Given the description of an element on the screen output the (x, y) to click on. 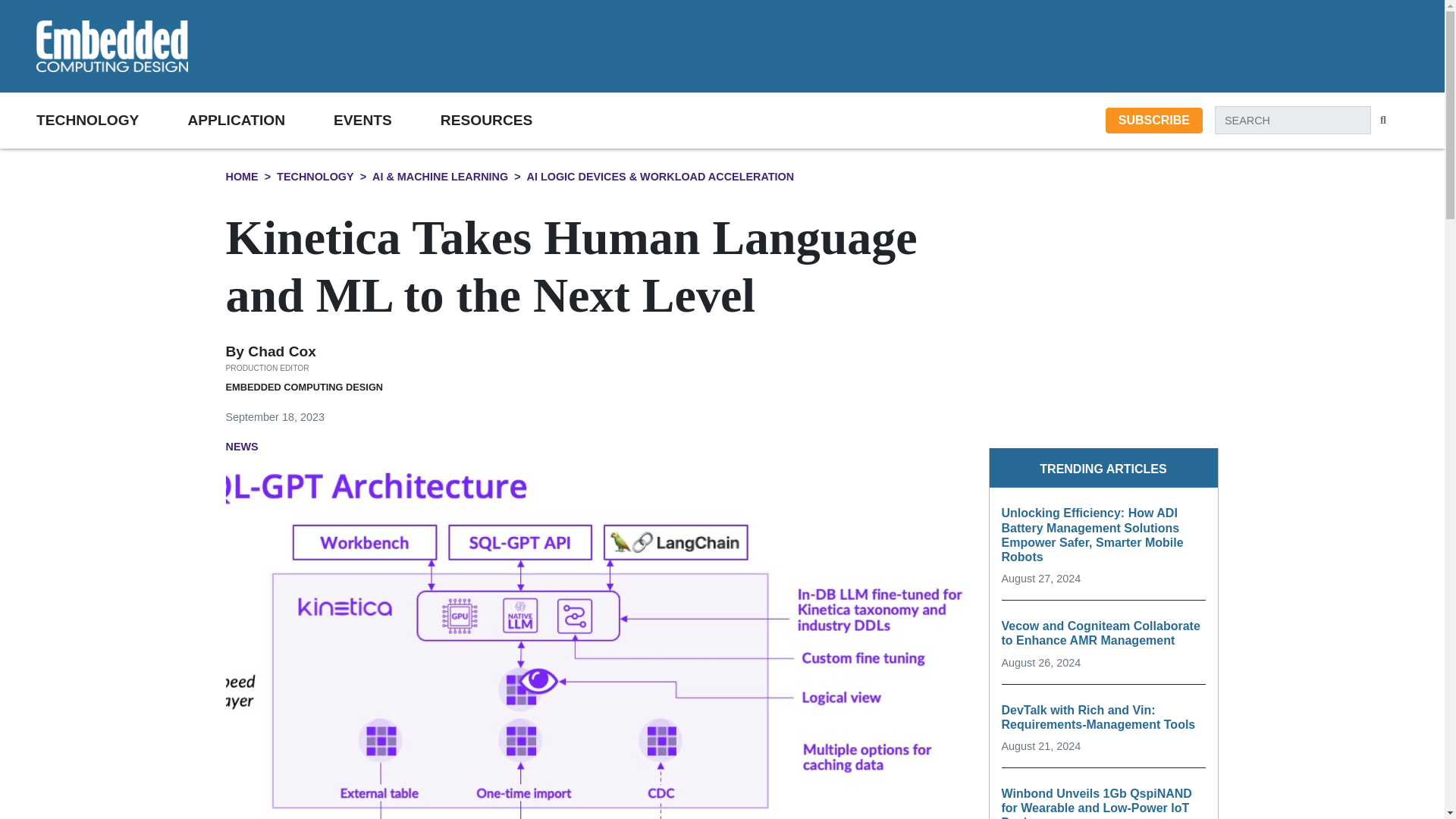
TECHNOLOGY (111, 120)
EVENTS (387, 120)
RESOURCES (510, 120)
APPLICATION (260, 120)
